Given the description of an element on the screen output the (x, y) to click on. 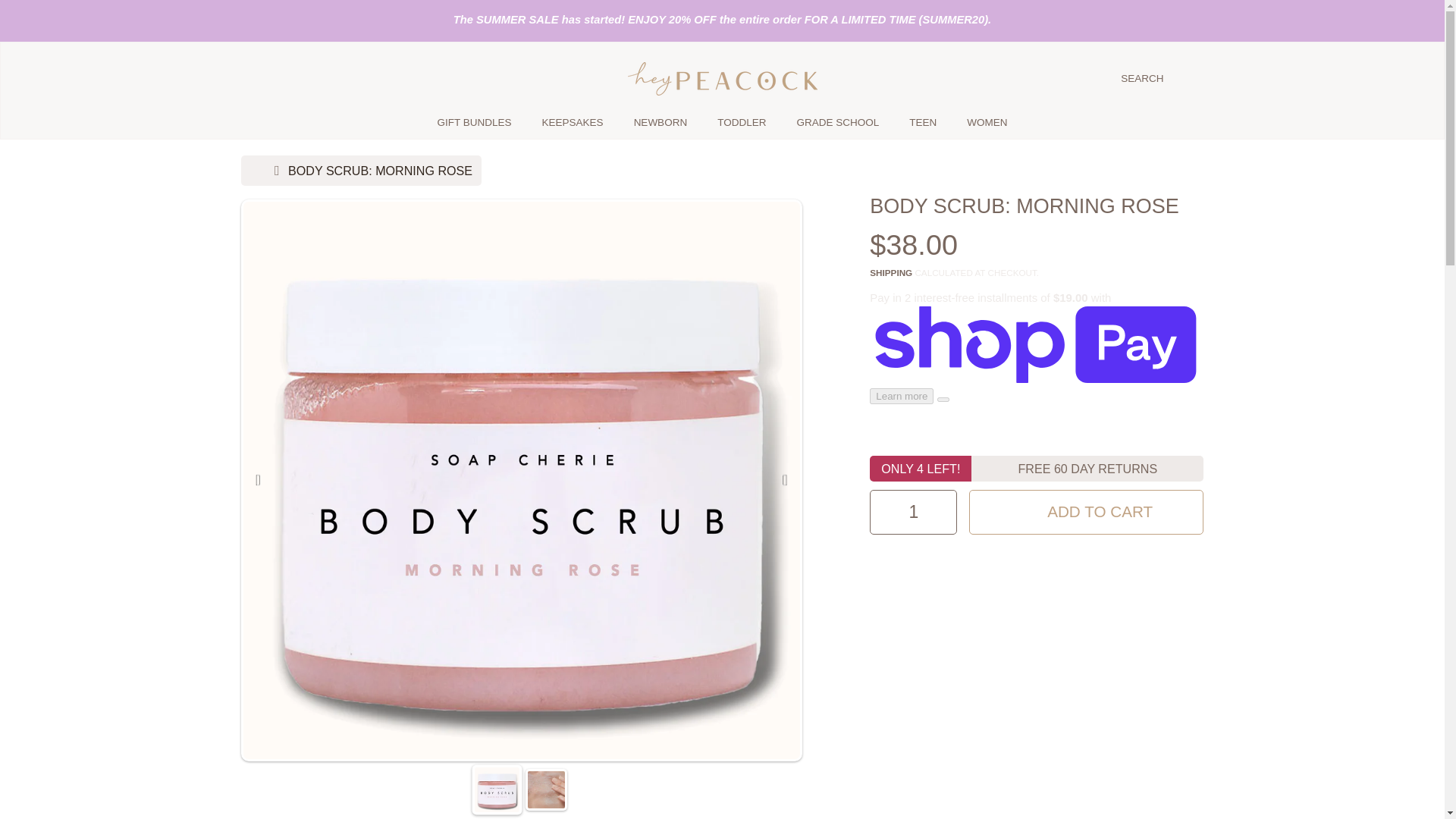
TEEN (922, 122)
KEEPSAKES (572, 122)
Login (260, 78)
NEWBORN (660, 122)
GRADE SCHOOL (836, 122)
GIFT BUNDLES (474, 122)
Cart (1191, 78)
SKIP TO CONTENT (108, 21)
TODDLER (740, 122)
